Given the description of an element on the screen output the (x, y) to click on. 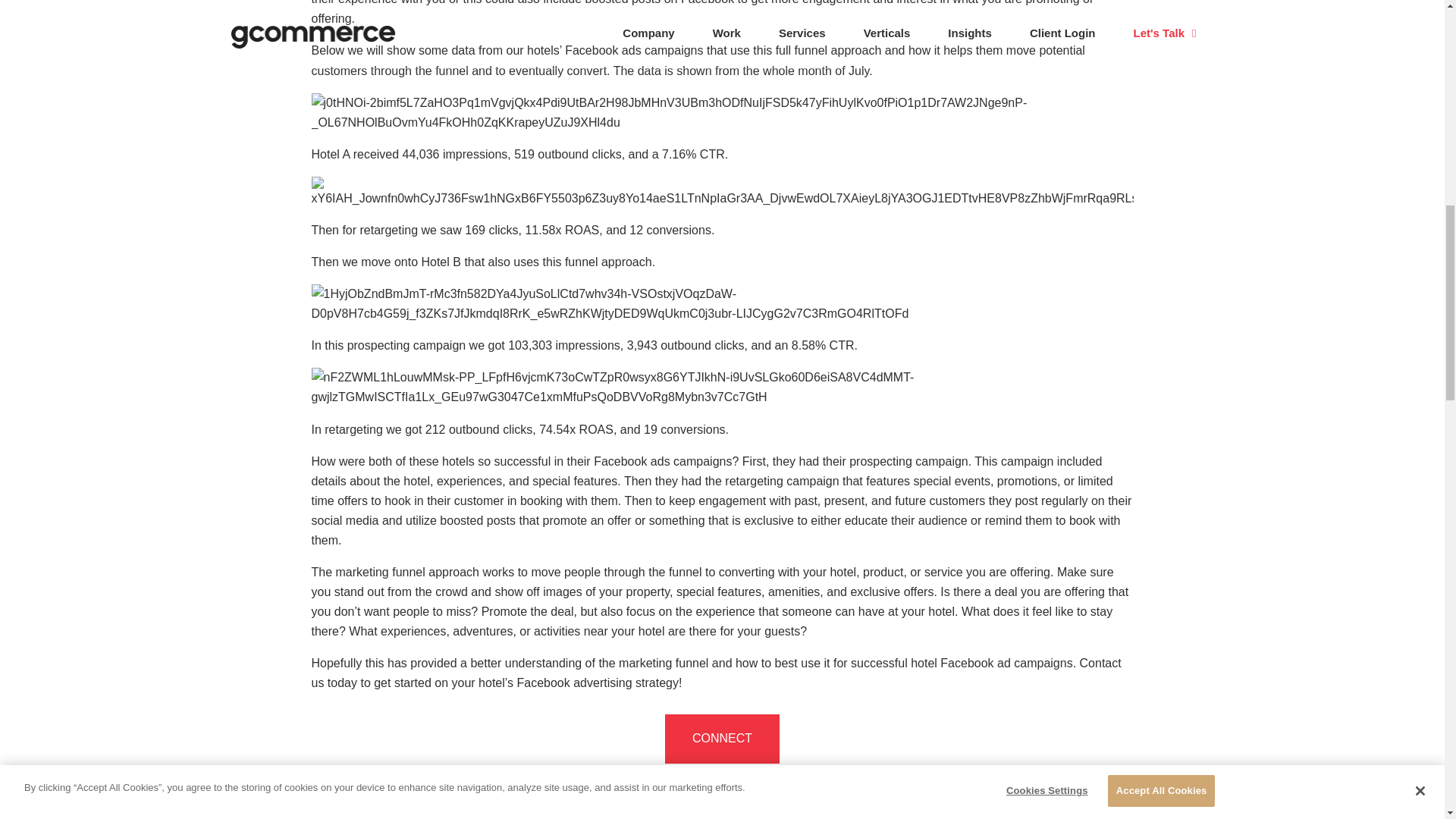
Chart (721, 112)
Chart (721, 303)
Chart (721, 192)
Chart (721, 387)
CONNECT (721, 738)
